Given the description of an element on the screen output the (x, y) to click on. 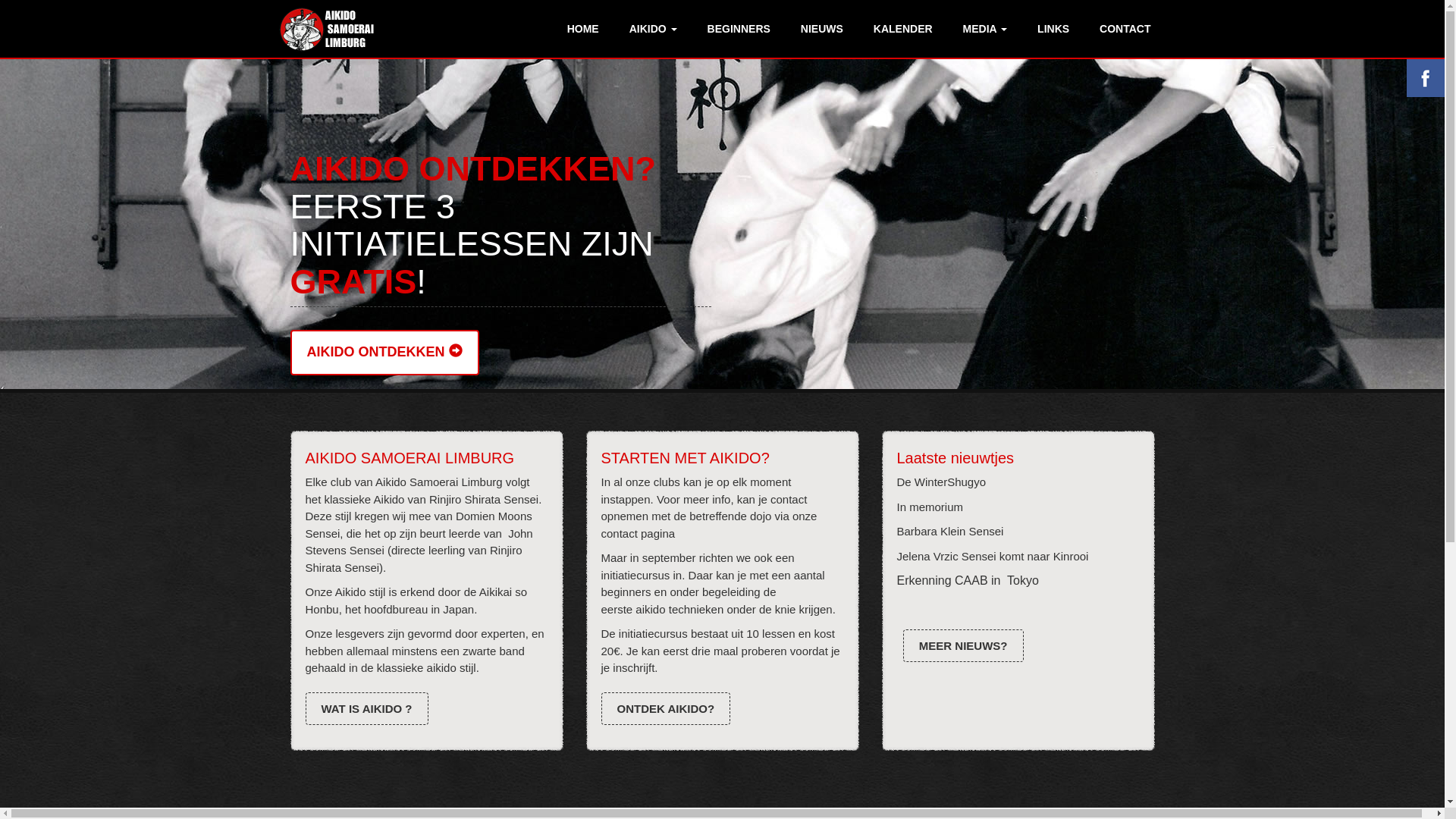
AIKIDO Element type: text (653, 28)
LINKS Element type: text (1053, 28)
KALENDER Element type: text (902, 28)
MEER NIEUWS? Element type: text (963, 645)
MEDIA Element type: text (984, 28)
HOME Element type: text (583, 28)
ONTDEK AIKIDO? Element type: text (665, 707)
BEGINNERS Element type: text (738, 28)
NIEUWS Element type: text (821, 28)
WAT IS AIKIDO ? Element type: text (365, 707)
CONTACT Element type: text (1124, 28)
AIKIDO ONTDEKKEN Element type: text (383, 352)
